Given the description of an element on the screen output the (x, y) to click on. 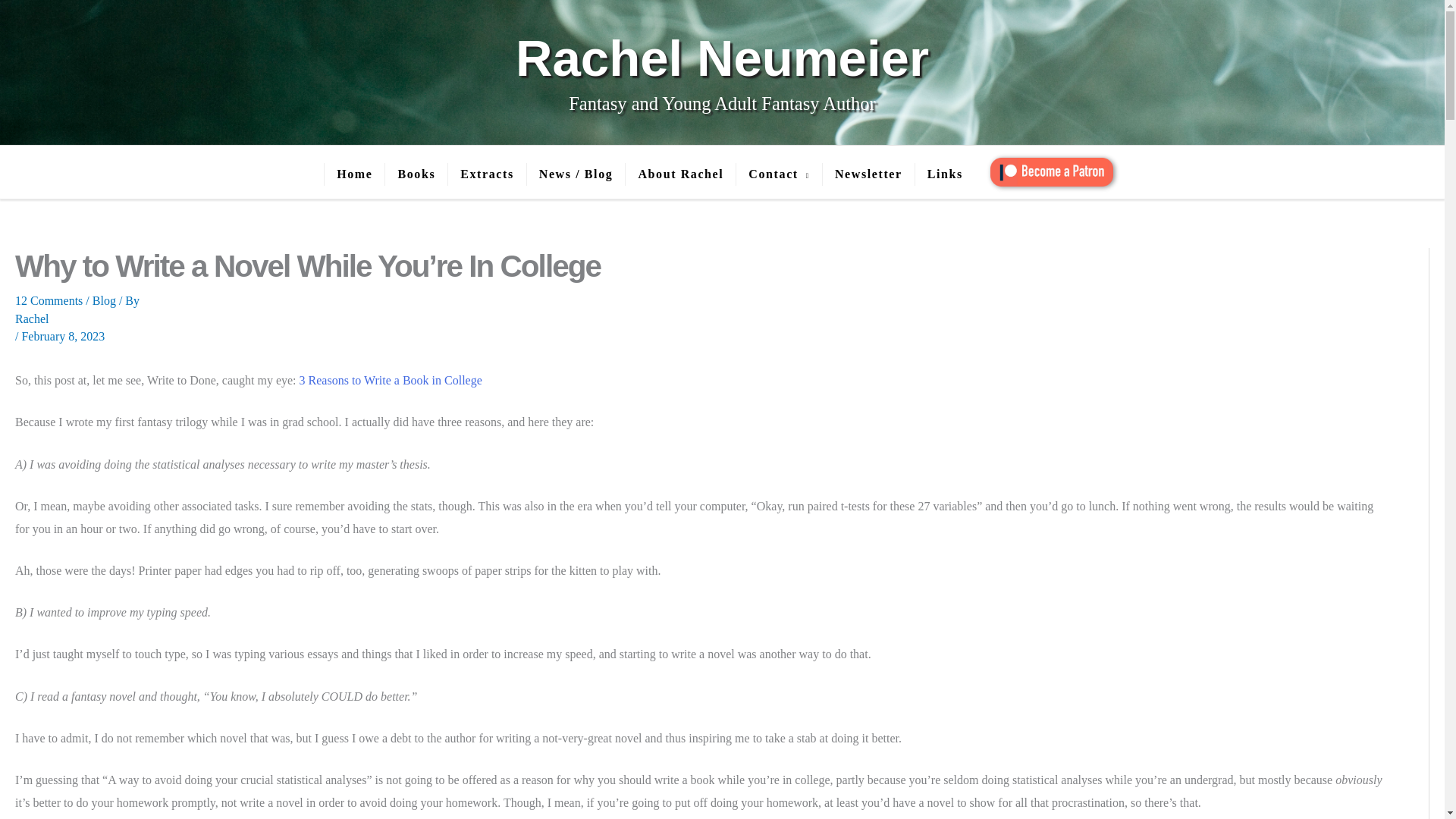
Books (415, 173)
Rachel (698, 318)
Rachel Neumeier (721, 57)
Contact (778, 173)
Links (944, 173)
About Rachel (679, 173)
Home (353, 173)
Newsletter (868, 173)
12 Comments (48, 300)
Blog (104, 300)
Extracts (485, 173)
3 Reasons to Write a Book in College (389, 379)
View all posts by Rachel (698, 318)
